Given the description of an element on the screen output the (x, y) to click on. 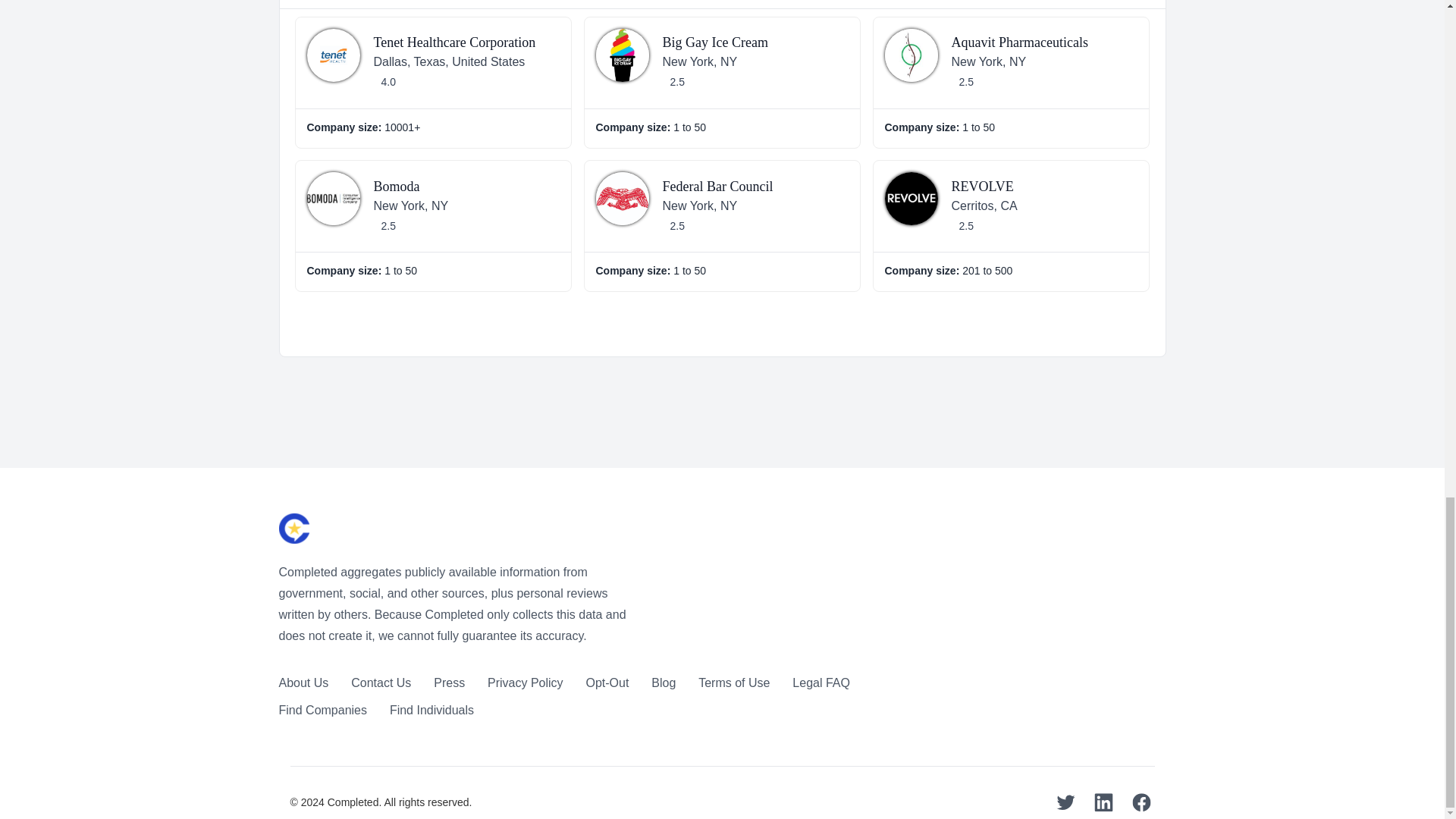
Legal FAQ (821, 682)
About Us (304, 682)
Bomoda (395, 186)
Terms of Use (734, 682)
Press (448, 682)
REVOLVE (981, 186)
Federal Bar Council (717, 186)
Opt-Out (606, 682)
Tenet Healthcare Corporation (453, 42)
Contact Us (380, 682)
Aquavit Pharmaceuticals (1018, 42)
Blog (662, 682)
Find Individuals (432, 709)
Find Companies (323, 709)
Big Gay Ice Cream (715, 42)
